Given the description of an element on the screen output the (x, y) to click on. 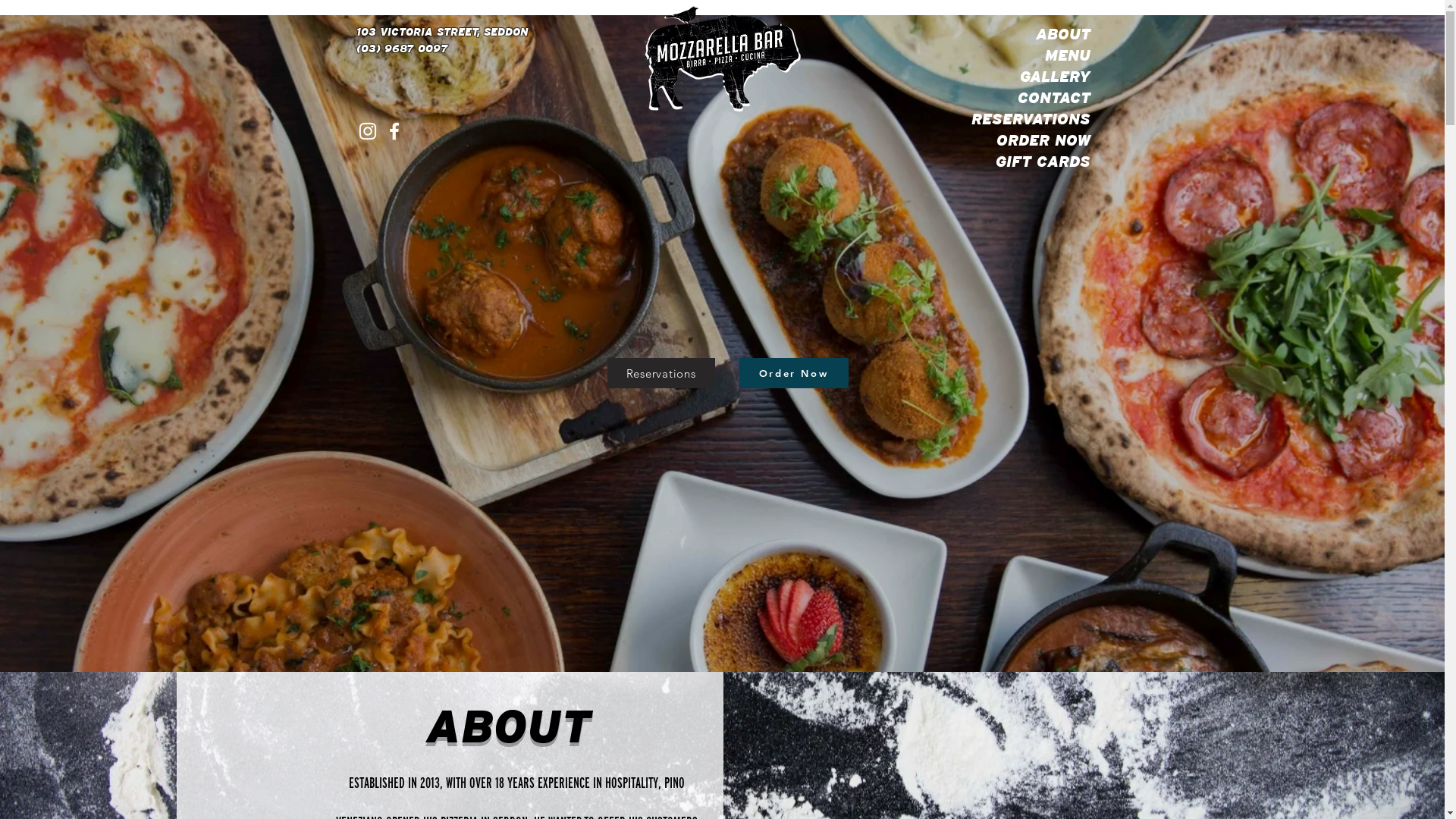
Embedded Content Element type: hover (463, 413)
GALLERY Element type: text (1028, 76)
RESERVATIONS Element type: text (1028, 118)
Reservations Element type: text (660, 372)
MENU Element type: text (1028, 54)
CONTACT Element type: text (1028, 97)
Embedded Content Element type: hover (963, 270)
ORDER NOW Element type: text (1028, 139)
ABOUT Element type: text (1028, 33)
Order Now Element type: text (792, 372)
(03) 9687 0097 Element type: text (402, 48)
GIFT CARDS Element type: text (1028, 161)
